Given the description of an element on the screen output the (x, y) to click on. 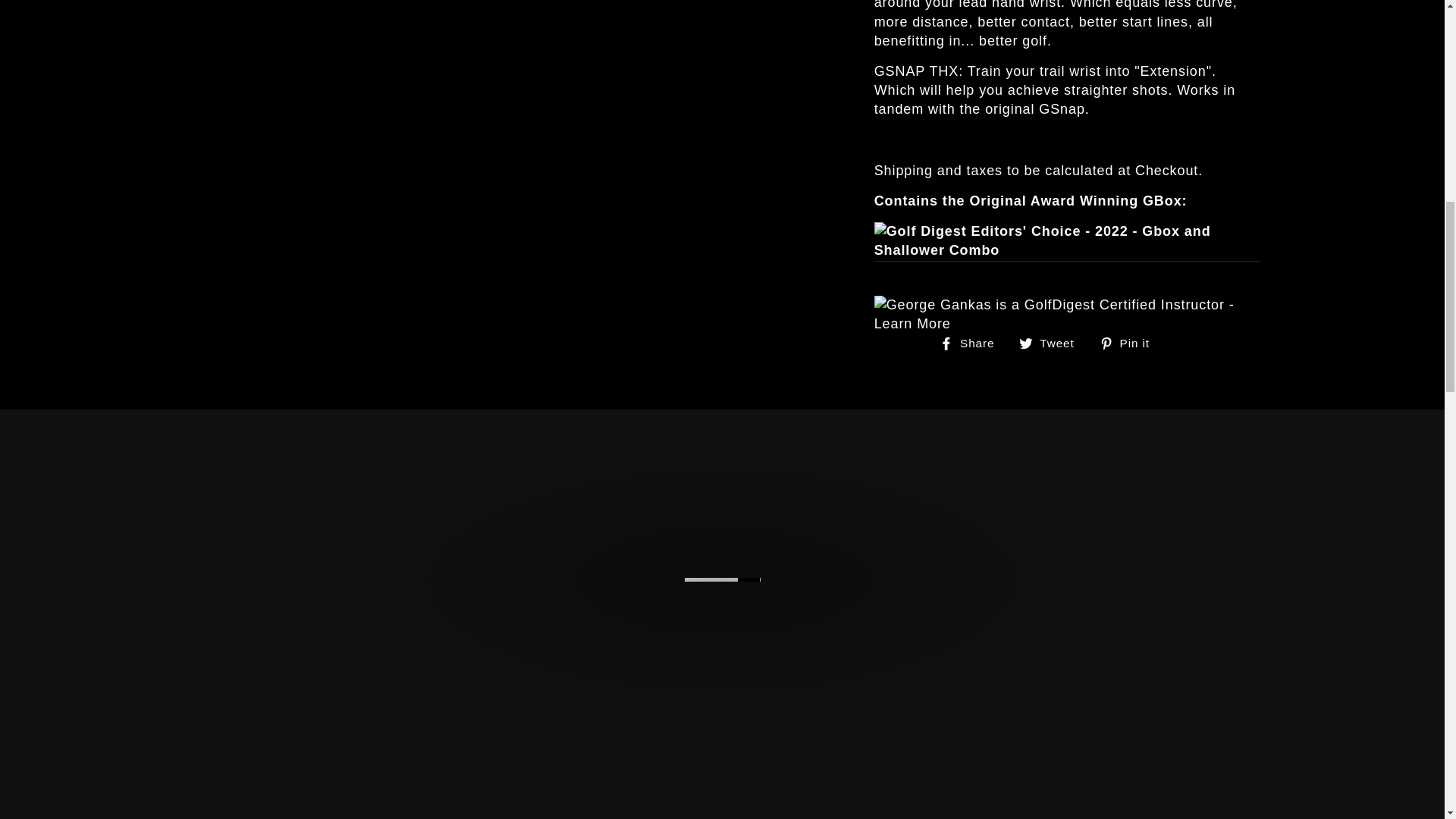
Share on Facebook (972, 342)
Tweet on Twitter (972, 342)
Pin on Pinterest (1051, 342)
